Given the description of an element on the screen output the (x, y) to click on. 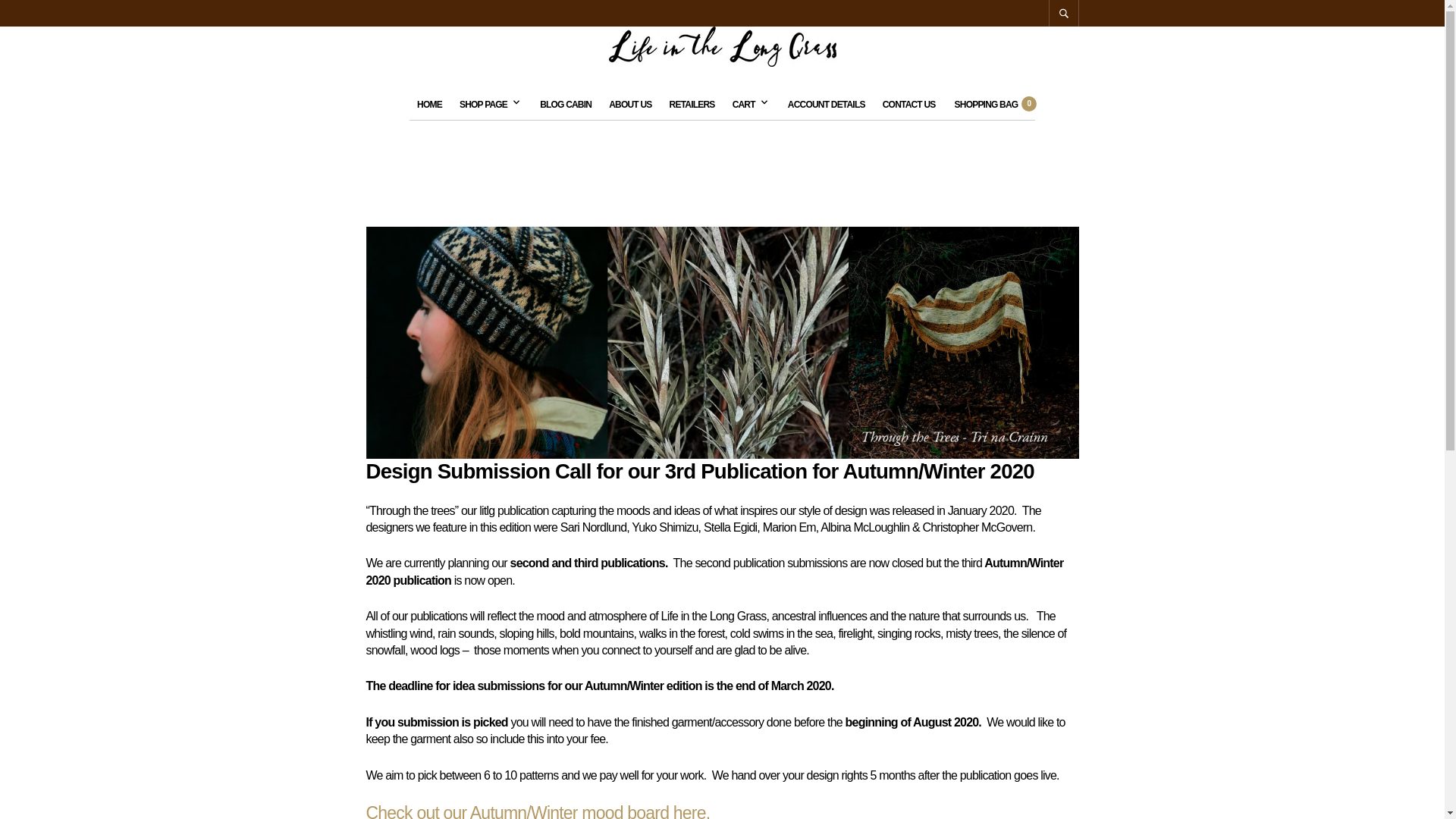
ACCOUNT DETAILS (826, 104)
CART (747, 104)
SHOP PAGE (486, 104)
BLOG CABIN (565, 104)
CONTACT US (909, 104)
HOME (429, 104)
ABOUT US (630, 104)
RETAILERS (692, 104)
